Given the description of an element on the screen output the (x, y) to click on. 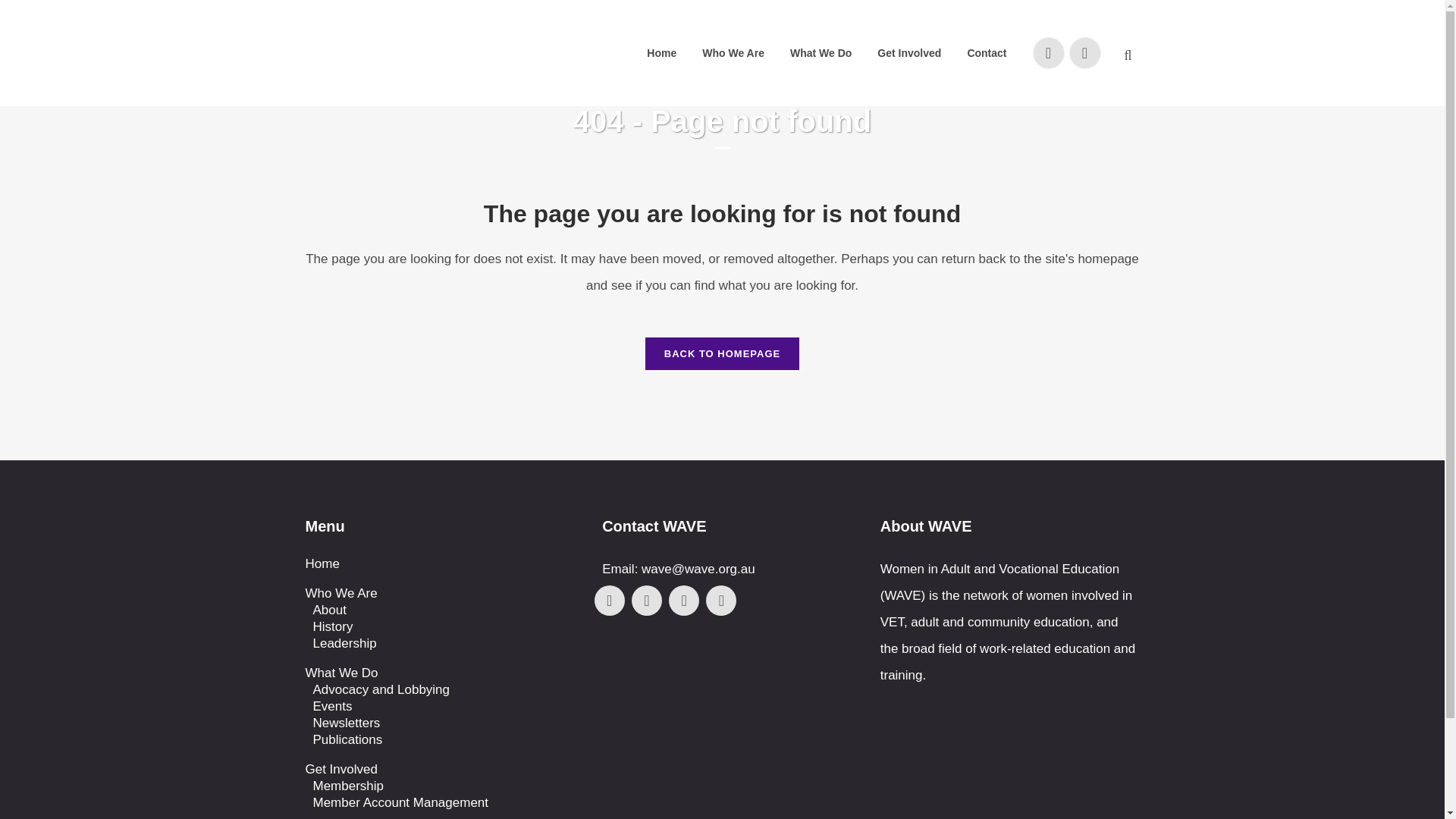
History (442, 627)
Home (438, 564)
BACK TO HOMEPAGE (722, 353)
About (442, 610)
Who We Are (438, 593)
Advocacy and Lobbying (442, 689)
Events (442, 706)
What We Do (438, 673)
Leadership (442, 643)
